Given the description of an element on the screen output the (x, y) to click on. 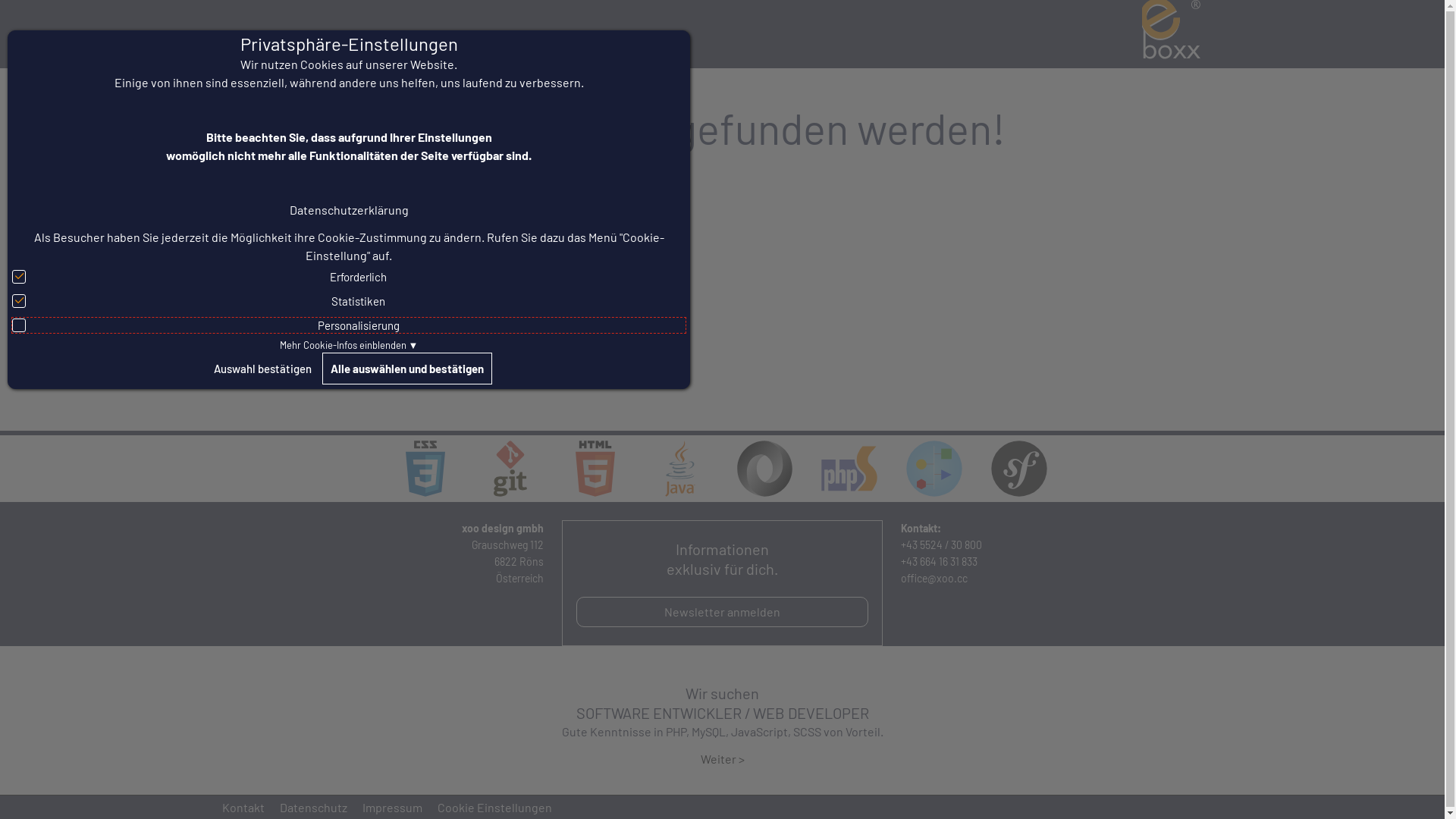
symfony. Element type: hover (1018, 468)
Newsletter anmelden Element type: text (722, 611)
+43 664 16 31 833 Element type: text (938, 561)
Weiter > Element type: text (722, 758)
Suche Element type: text (239, 34)
java Element type: hover (679, 468)
+43 5524 / 30 800 Element type: text (941, 544)
office@xoo.cc Element type: text (933, 577)
json Element type: hover (764, 468)
git Element type: hover (509, 468)
php Element type: hover (848, 468)
rest api Element type: hover (933, 468)
Websolutions Element type: text (300, 34)
Tipps Technik Element type: text (562, 34)
html-5 Element type: hover (594, 468)
Referenzen Element type: text (482, 34)
html-5_css Element type: hover (425, 468)
